Given the description of an element on the screen output the (x, y) to click on. 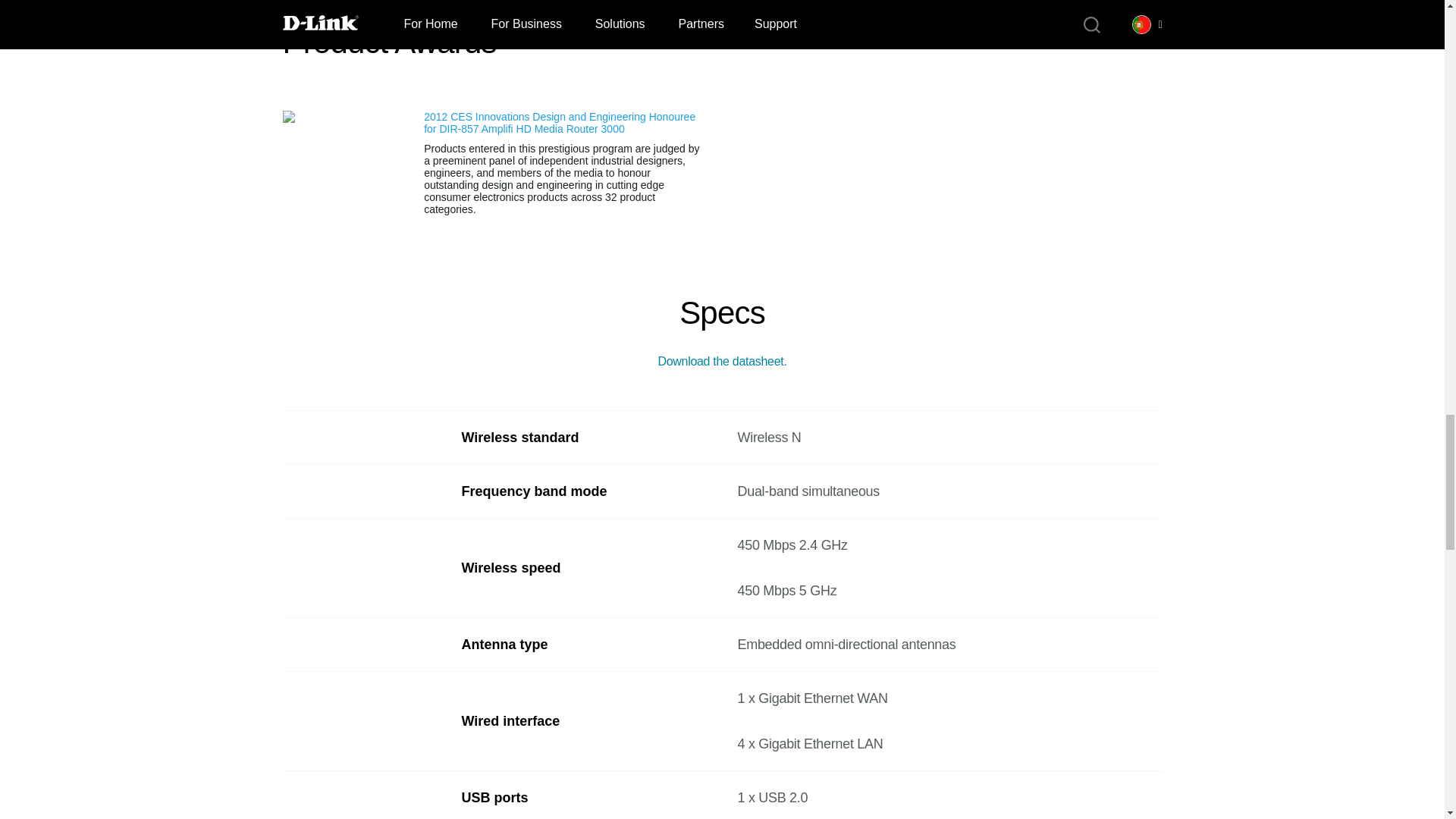
Download the datasheet. (722, 360)
